Given the description of an element on the screen output the (x, y) to click on. 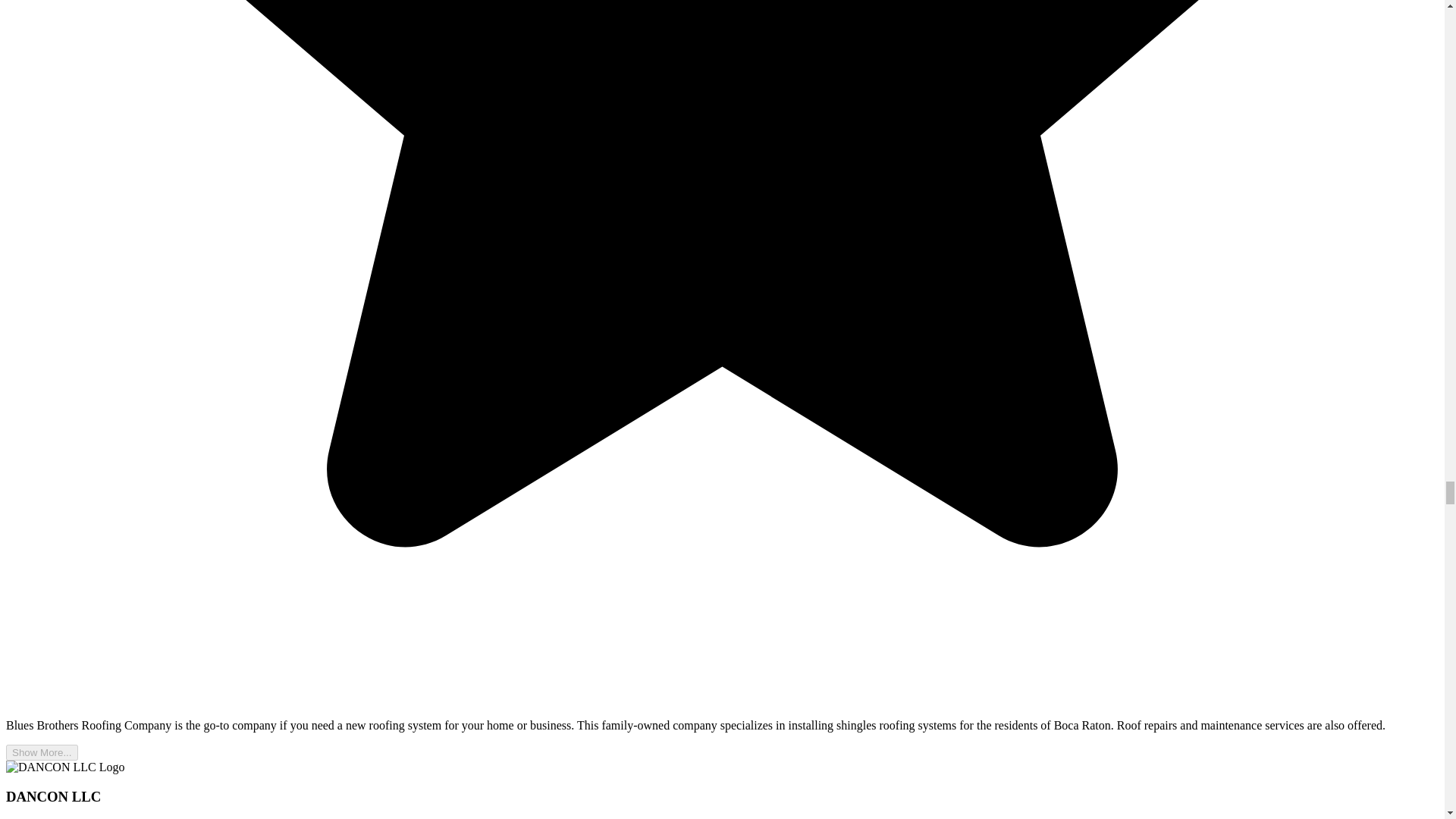
Show More... (41, 752)
